Given the description of an element on the screen output the (x, y) to click on. 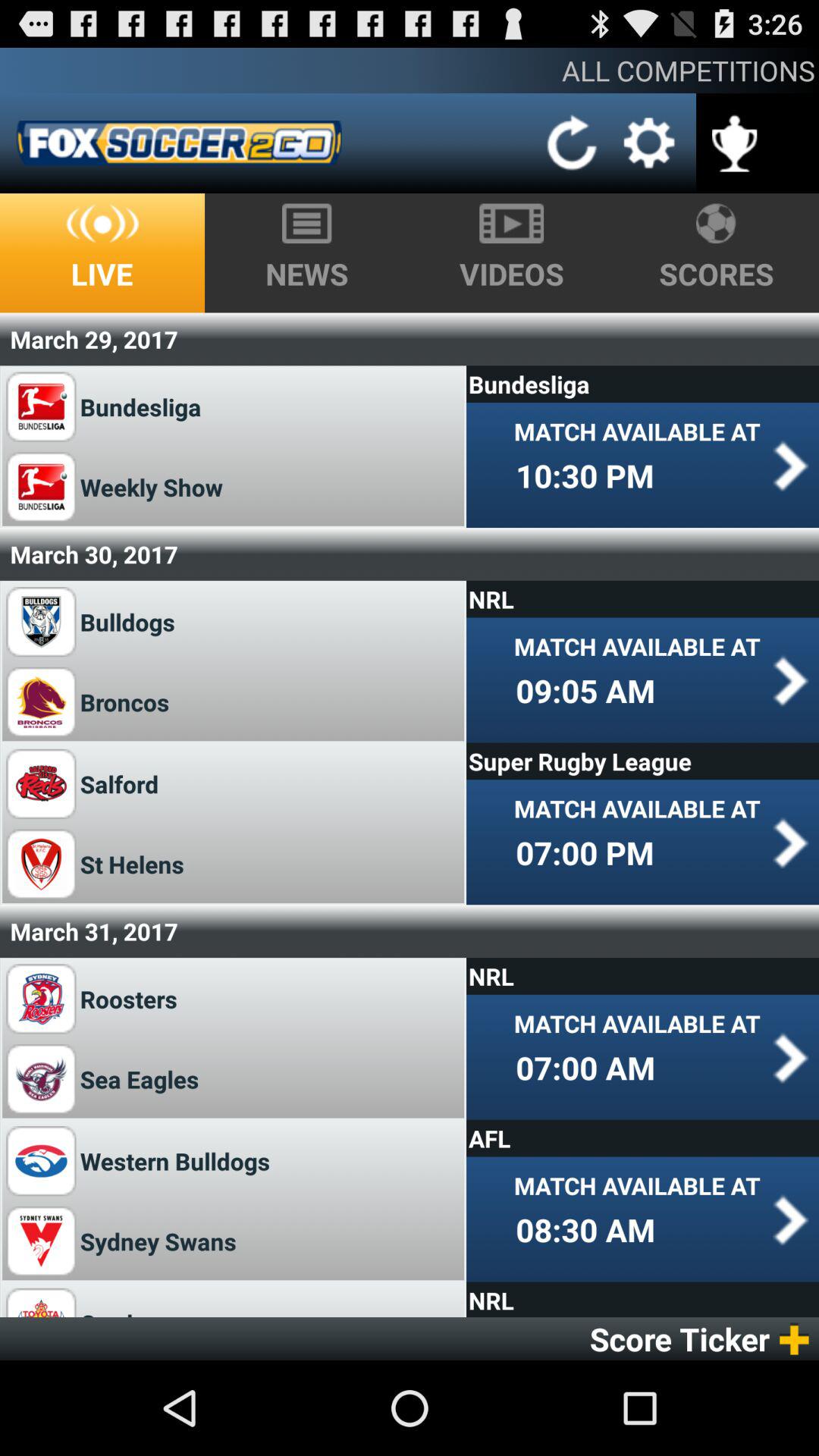
swipe until the afl item (642, 1137)
